Given the description of an element on the screen output the (x, y) to click on. 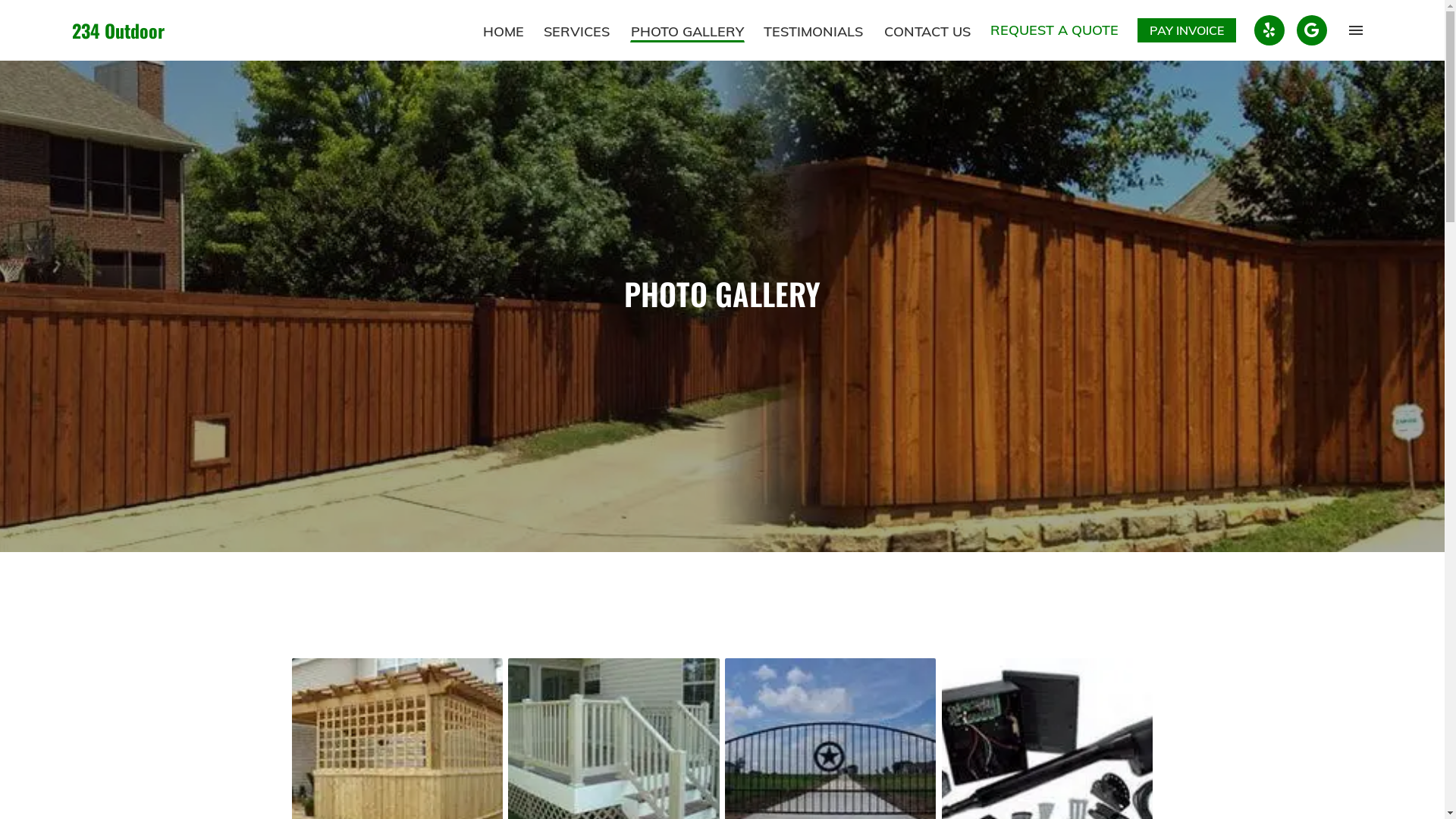
PAY INVOICE Element type: text (1186, 30)
234 Outdoor Element type: text (206, 29)
CONTACT US Element type: text (927, 30)
PHOTO GALLERY Element type: text (687, 30)
HOME Element type: text (503, 30)
Toggle hamburger navigation menu Element type: hover (1355, 30)
SERVICES Element type: text (576, 30)
Social media account for Google Element type: hover (1311, 30)
Social media account for Yelp Element type: hover (1269, 30)
TESTIMONIALS Element type: text (813, 30)
REQUEST A QUOTE Element type: text (1054, 29)
